Given the description of an element on the screen output the (x, y) to click on. 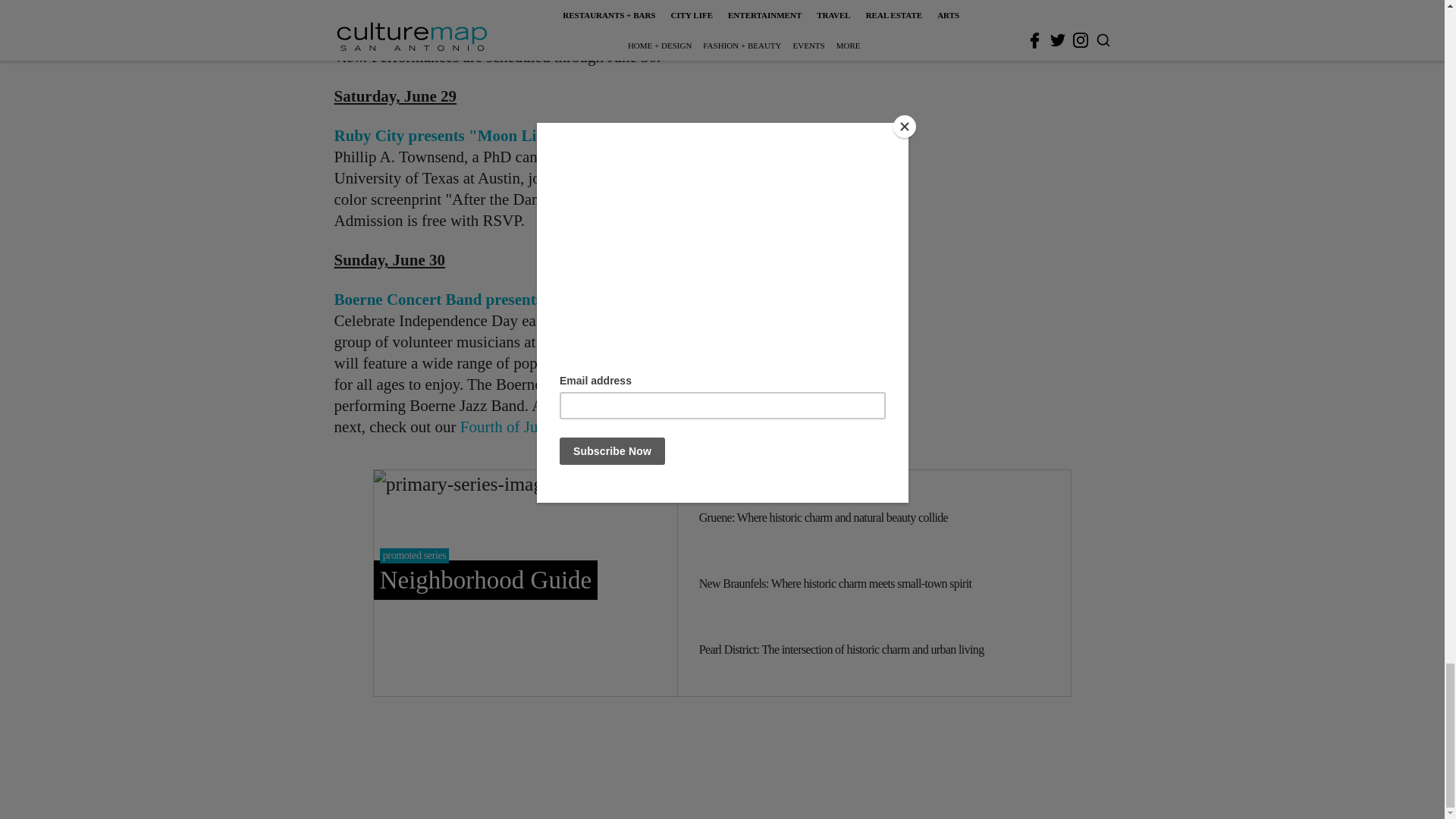
primary-link (525, 583)
